Given the description of an element on the screen output the (x, y) to click on. 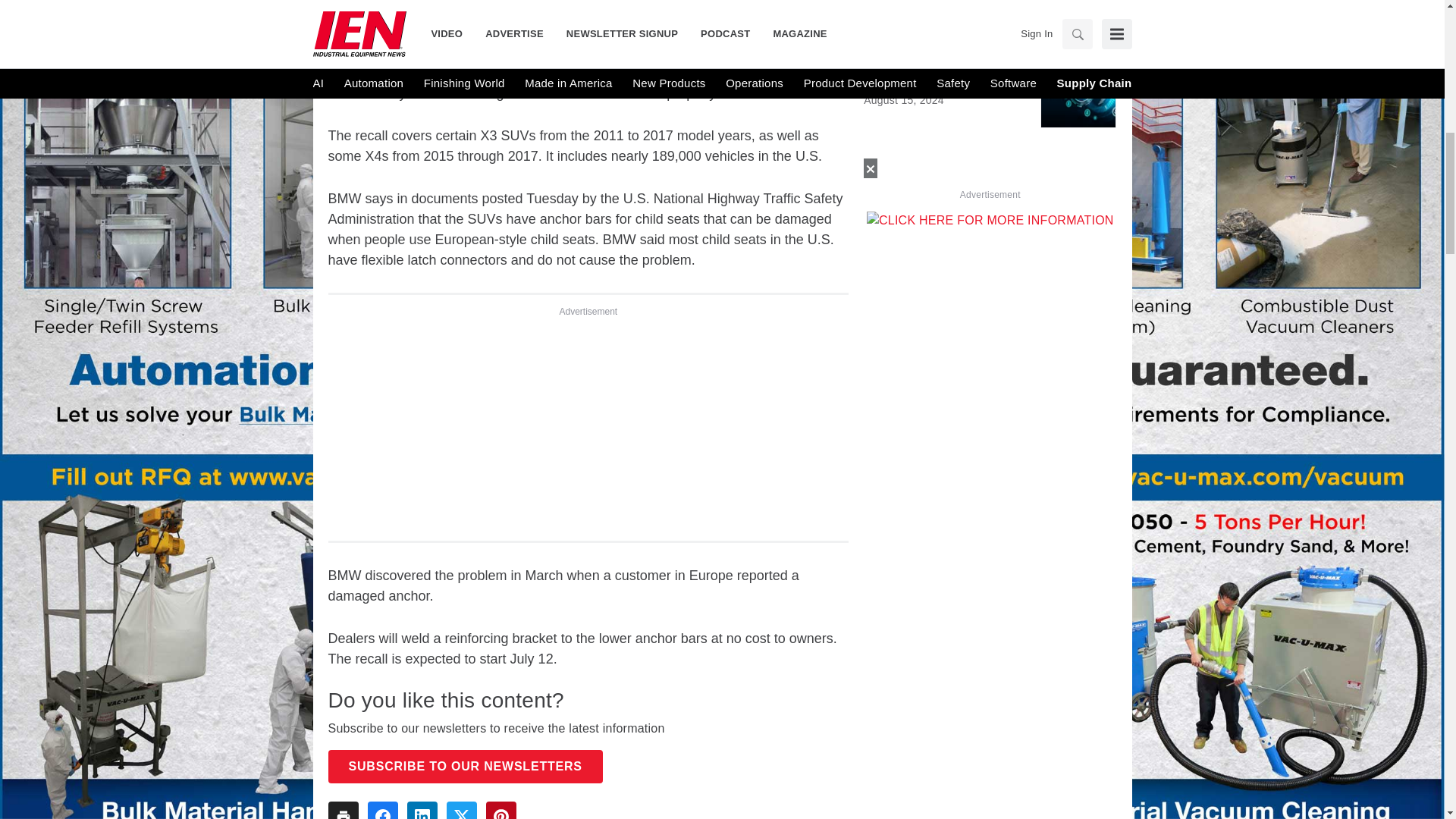
Share To linkedin (421, 810)
Share To facebook (381, 810)
3rd party ad content (587, 422)
Share To print (342, 810)
